Given the description of an element on the screen output the (x, y) to click on. 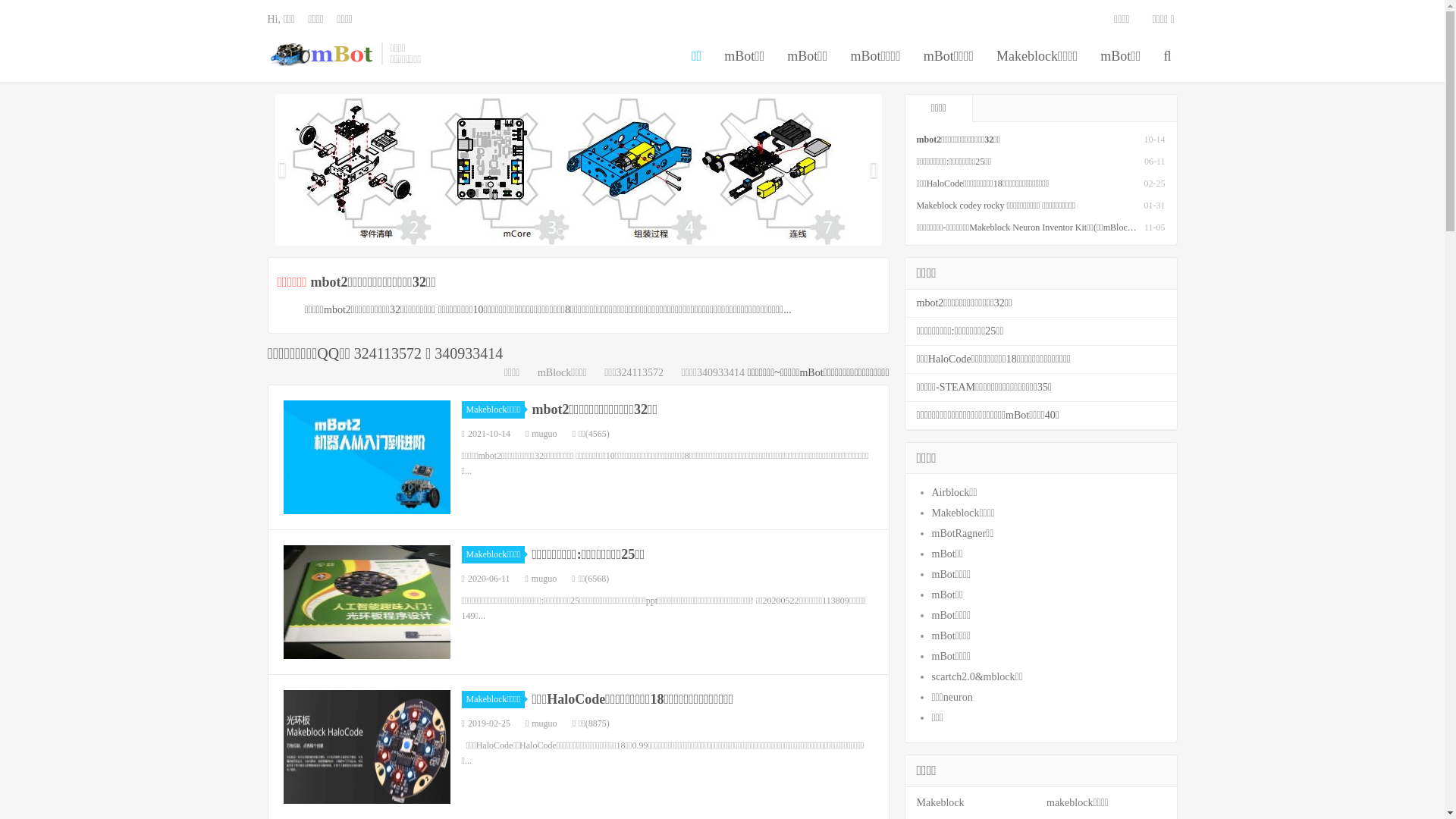
Makeblock Element type: text (939, 802)
